Given the description of an element on the screen output the (x, y) to click on. 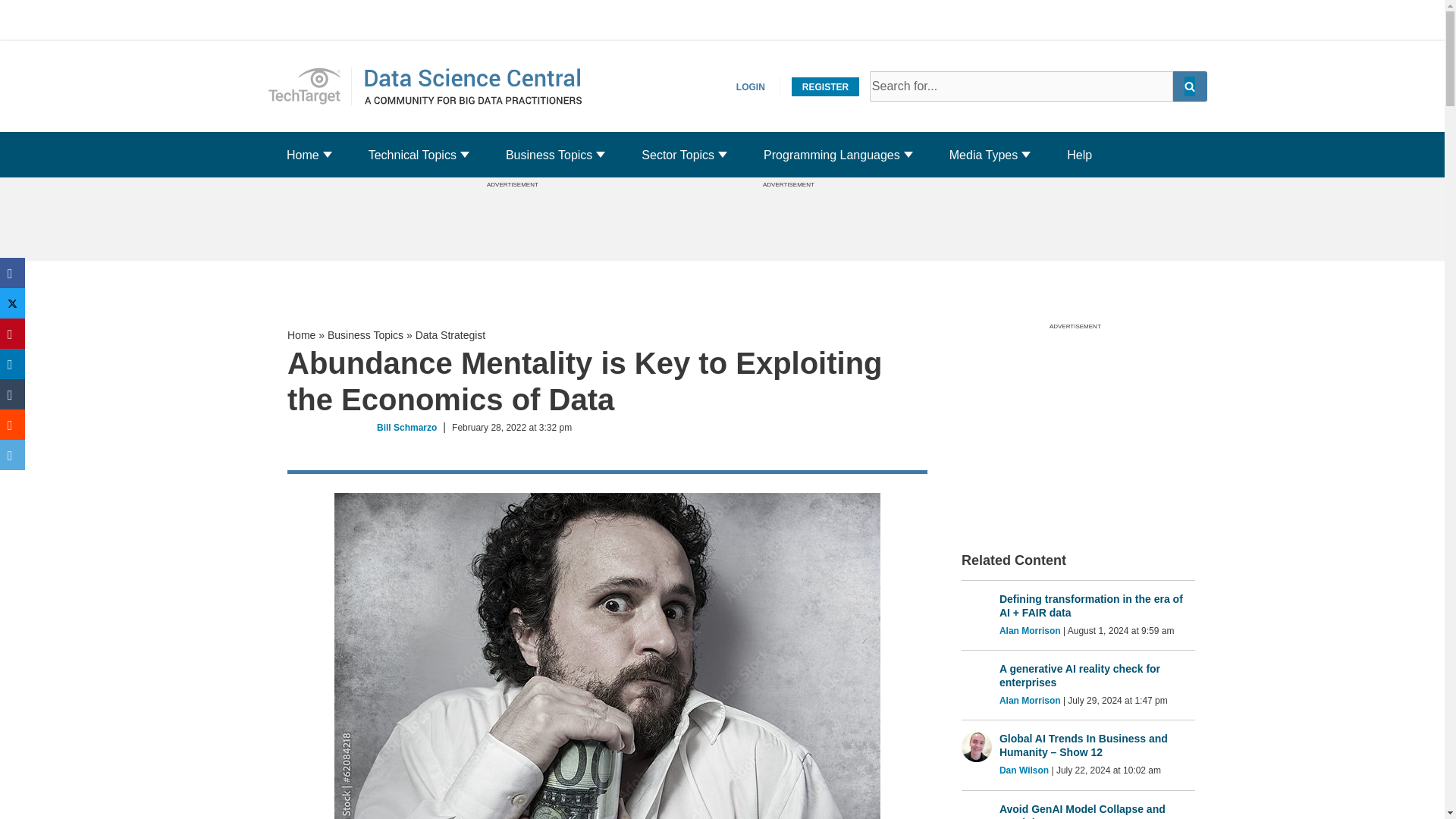
LOGIN (750, 86)
Avoid GenAI Model Collapse and Death by Averages (1096, 810)
Posts by Bill Schmarzo (406, 427)
Technical Topics (412, 154)
REGISTER (825, 86)
Business Topics (548, 154)
Skip to content (11, 31)
Home (309, 86)
A generative AI reality check for enterprises (302, 154)
